Given the description of an element on the screen output the (x, y) to click on. 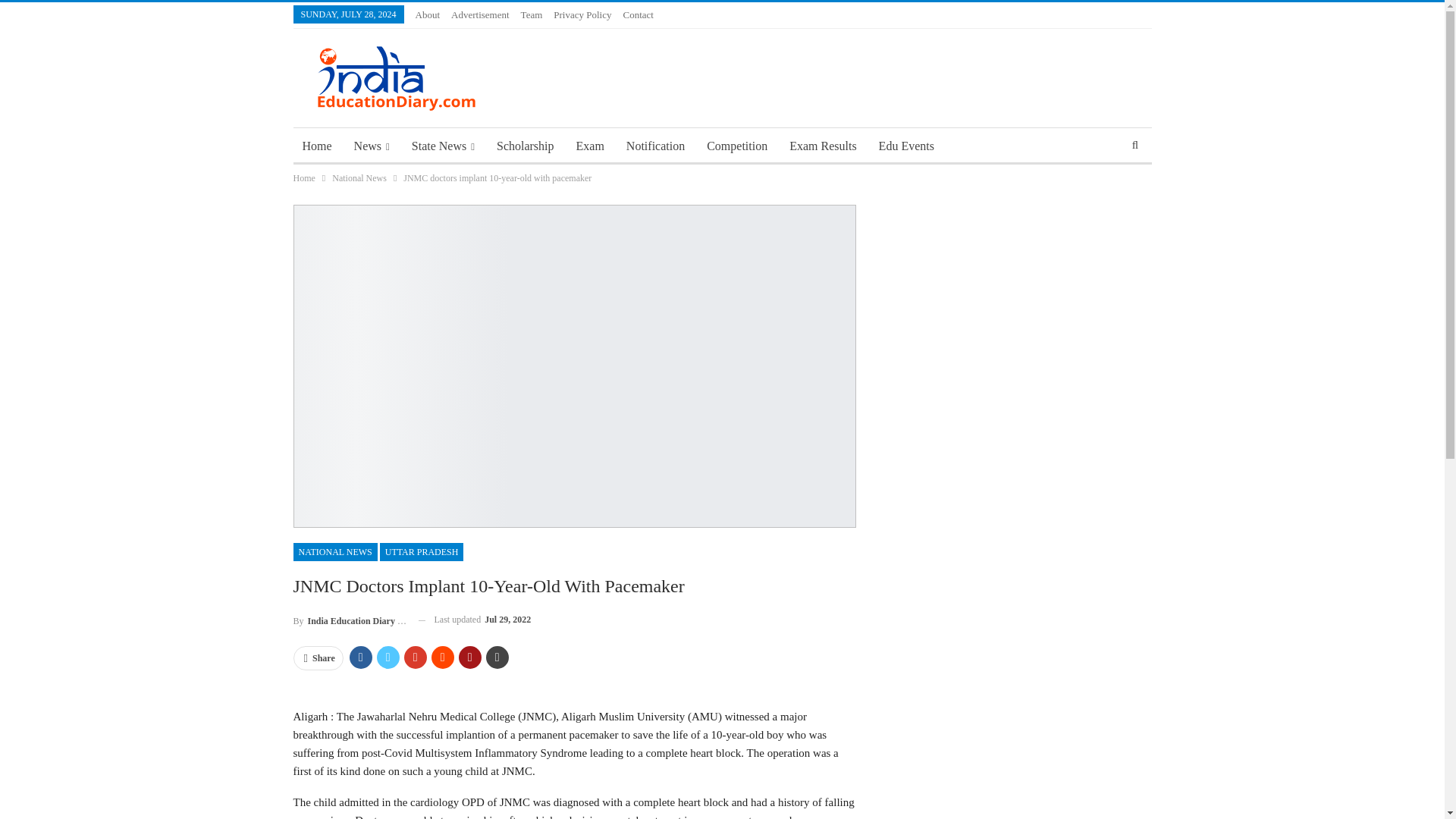
Advertisement (480, 14)
State News (443, 145)
News (371, 145)
Privacy Policy (582, 14)
Browse Author Articles (349, 619)
Team (532, 14)
About (427, 14)
Home (316, 145)
Contact (637, 14)
